Given the description of an element on the screen output the (x, y) to click on. 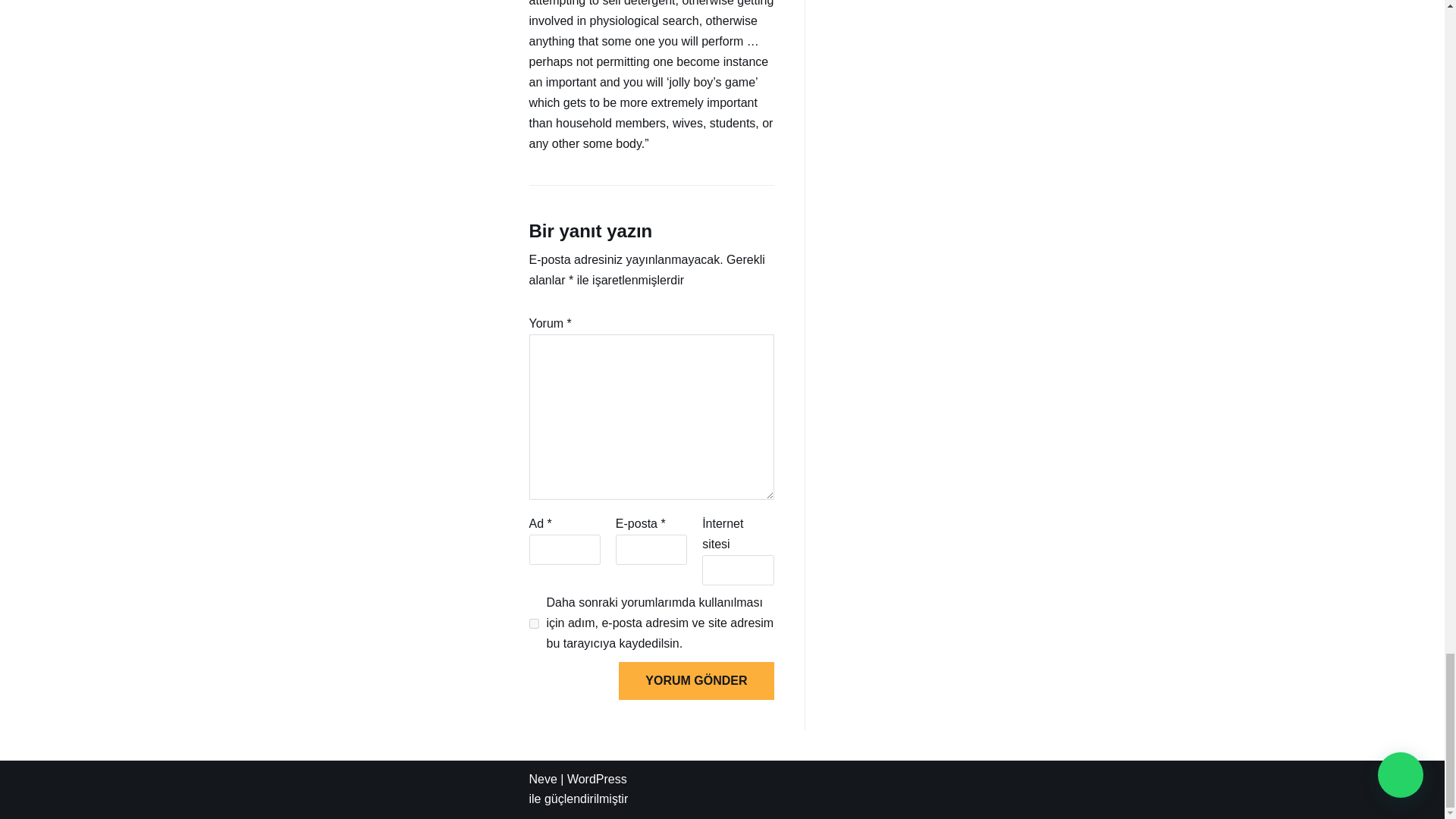
Neve (543, 779)
yes (533, 623)
WordPress (597, 779)
